Given the description of an element on the screen output the (x, y) to click on. 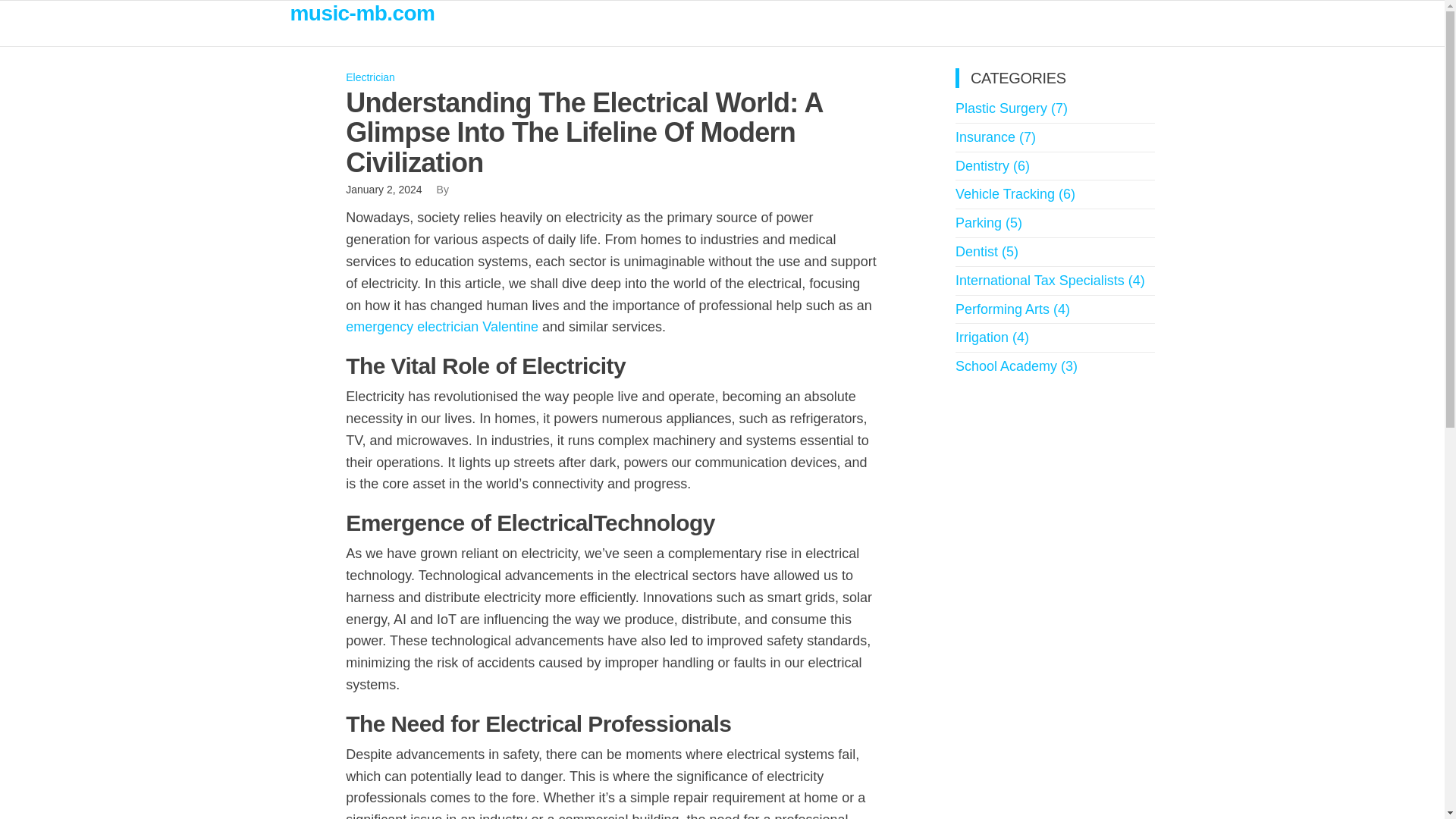
Electrician (370, 77)
emergency electrician Valentine (442, 326)
music-mb.com (361, 13)
